Given the description of an element on the screen output the (x, y) to click on. 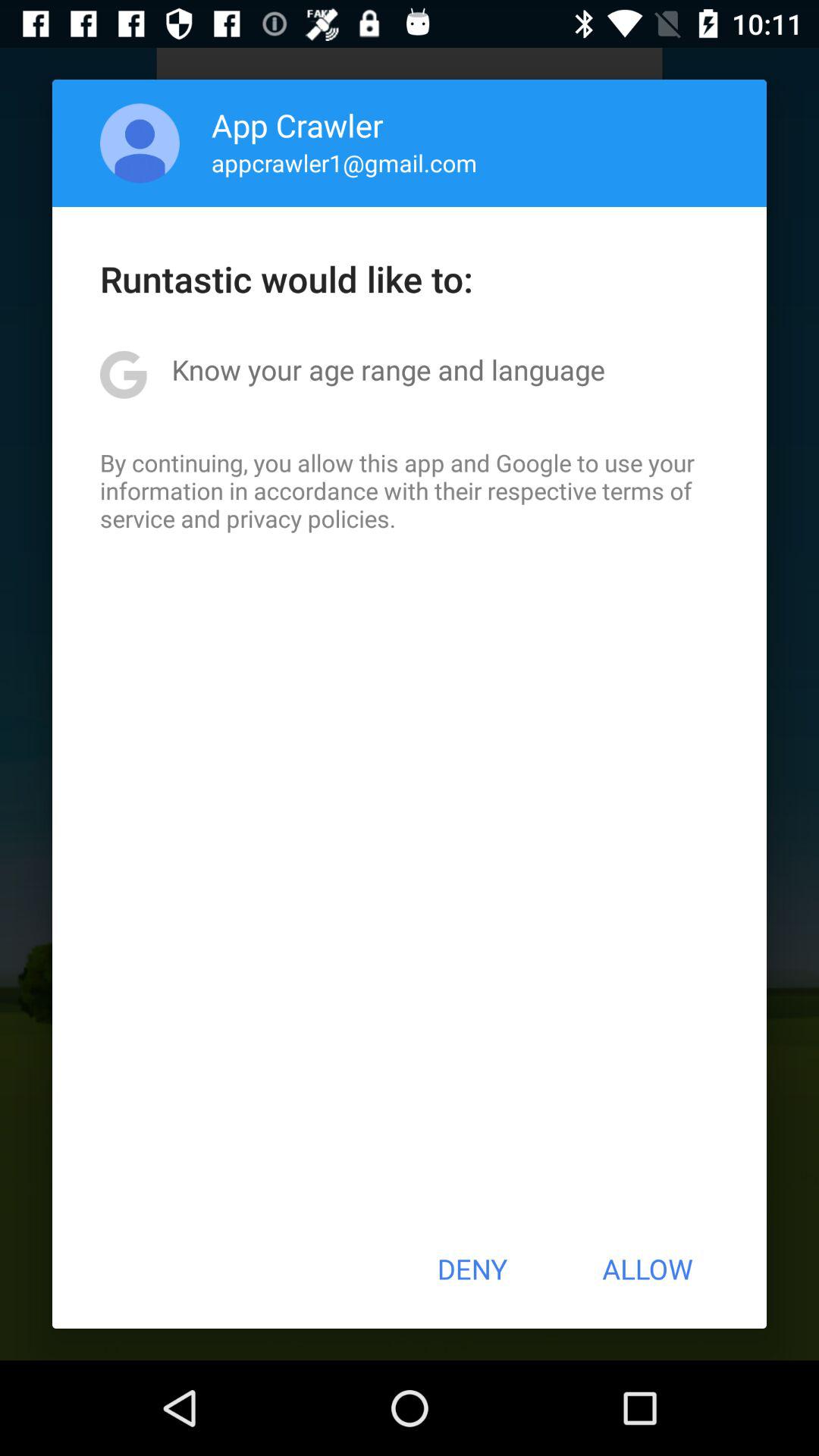
open item to the left of the allow icon (471, 1268)
